Given the description of an element on the screen output the (x, y) to click on. 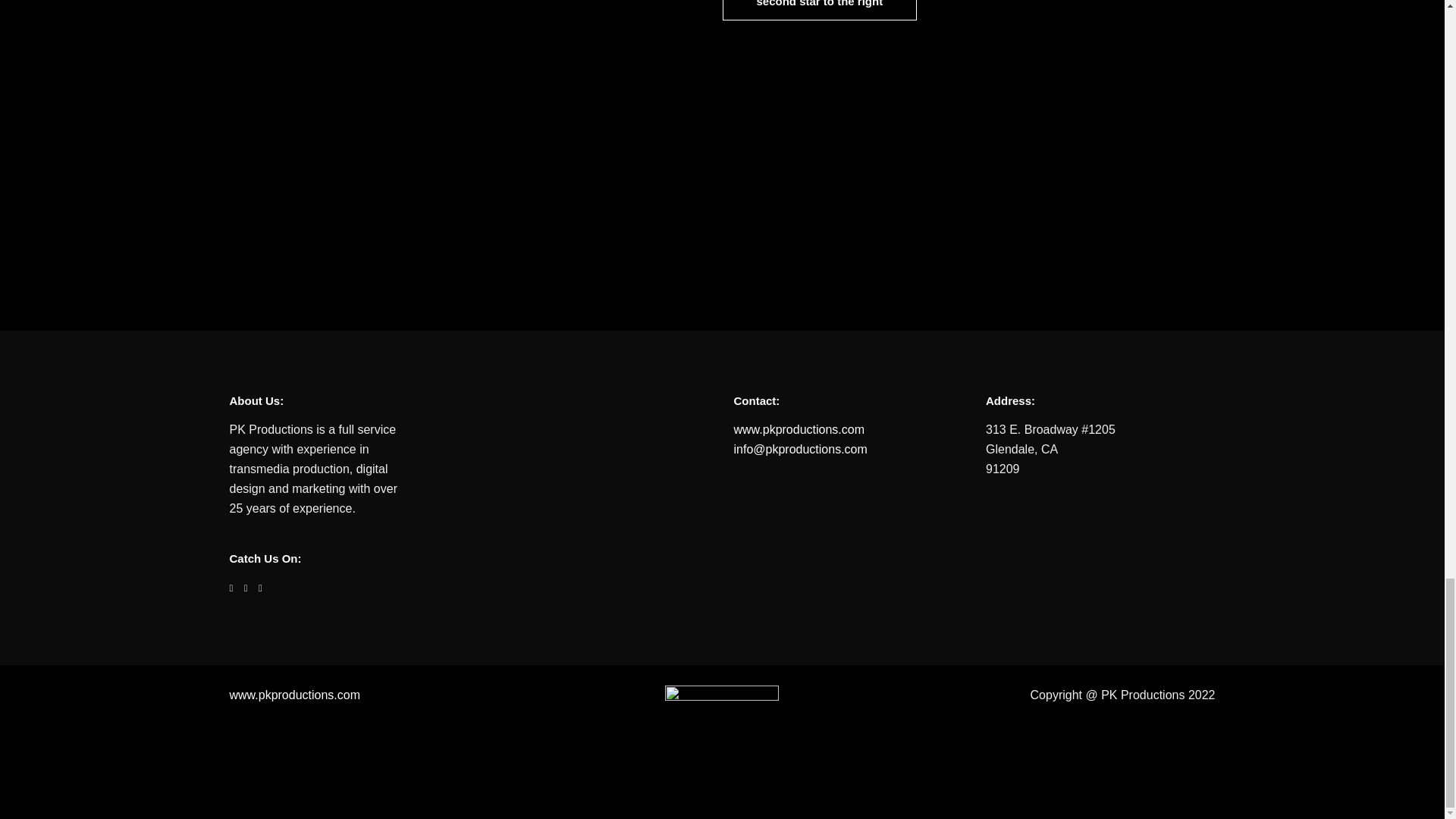
www.pkproductions.com (798, 429)
www.pkproductions.com (293, 694)
second star to the right (819, 10)
